Given the description of an element on the screen output the (x, y) to click on. 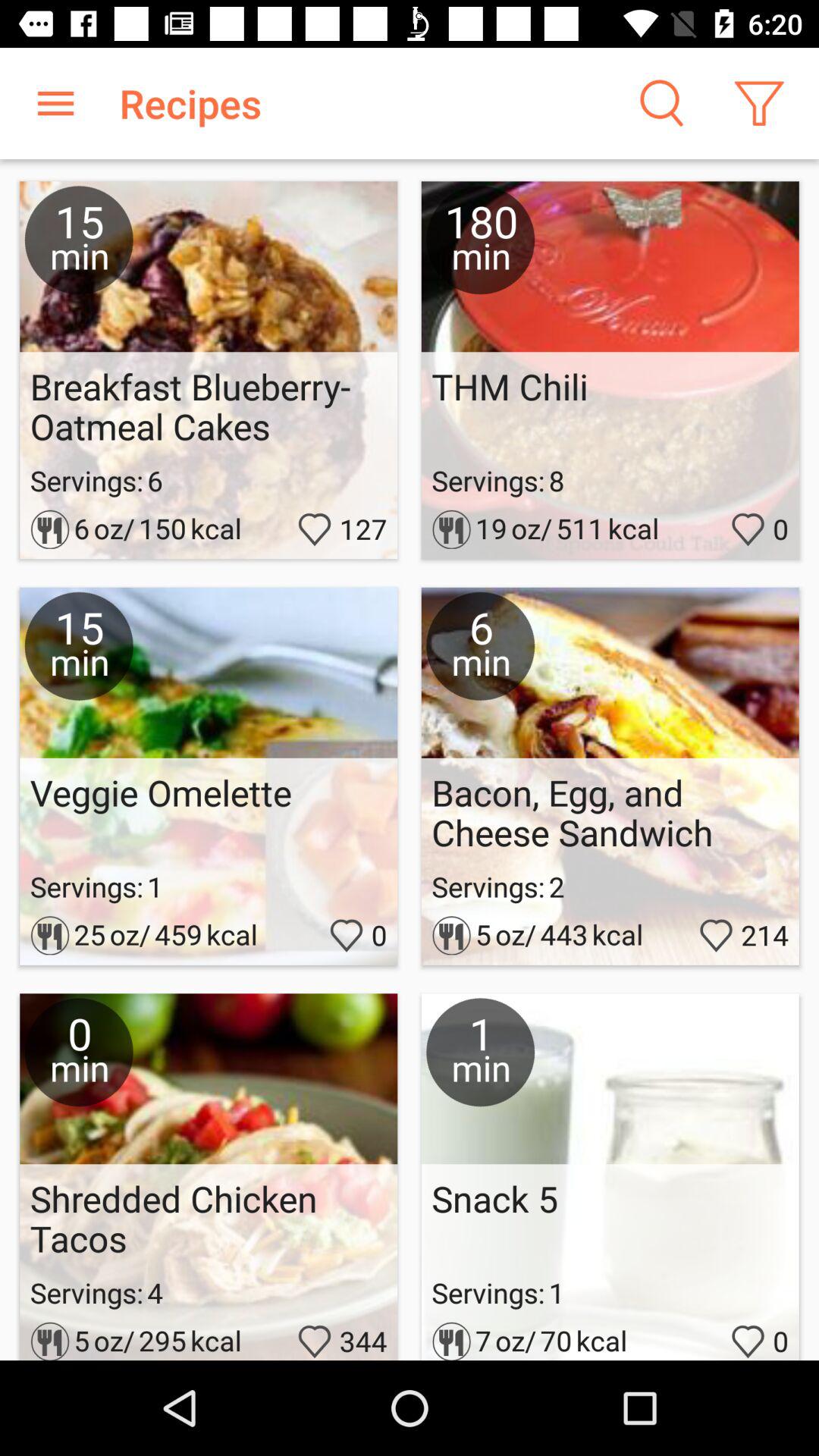
search (659, 103)
